Given the description of an element on the screen output the (x, y) to click on. 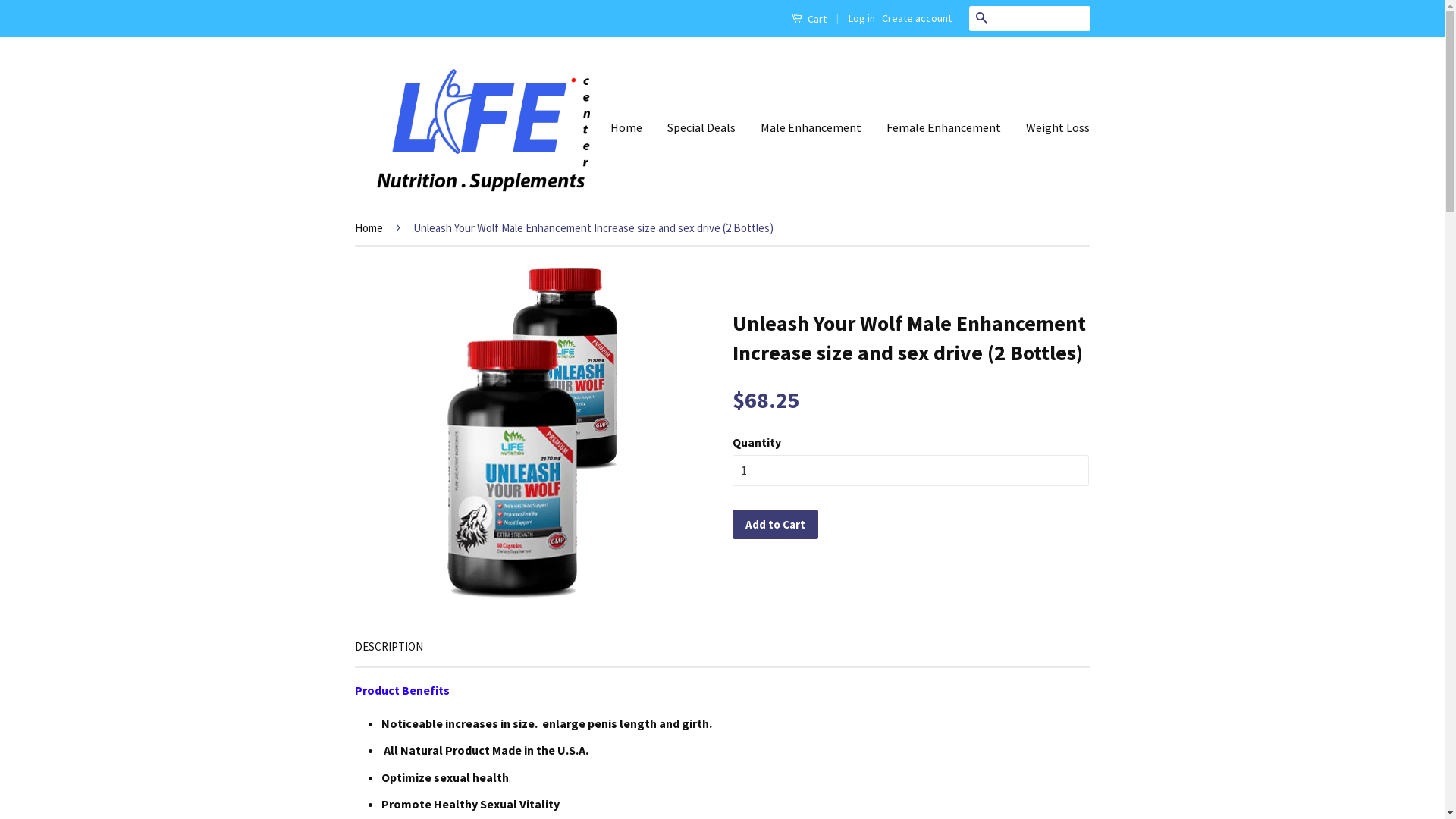
Male Enhancement Element type: text (810, 127)
Cart Element type: text (806, 17)
Log in Element type: text (860, 18)
Search Element type: text (981, 18)
Home Element type: text (631, 127)
Home Element type: text (371, 227)
Weight Loss Element type: text (1051, 127)
Add to Cart Element type: text (775, 524)
Female Enhancement Element type: text (943, 127)
Special Deals Element type: text (700, 127)
Create account Element type: text (915, 18)
DESCRIPTION Element type: text (388, 646)
